Given the description of an element on the screen output the (x, y) to click on. 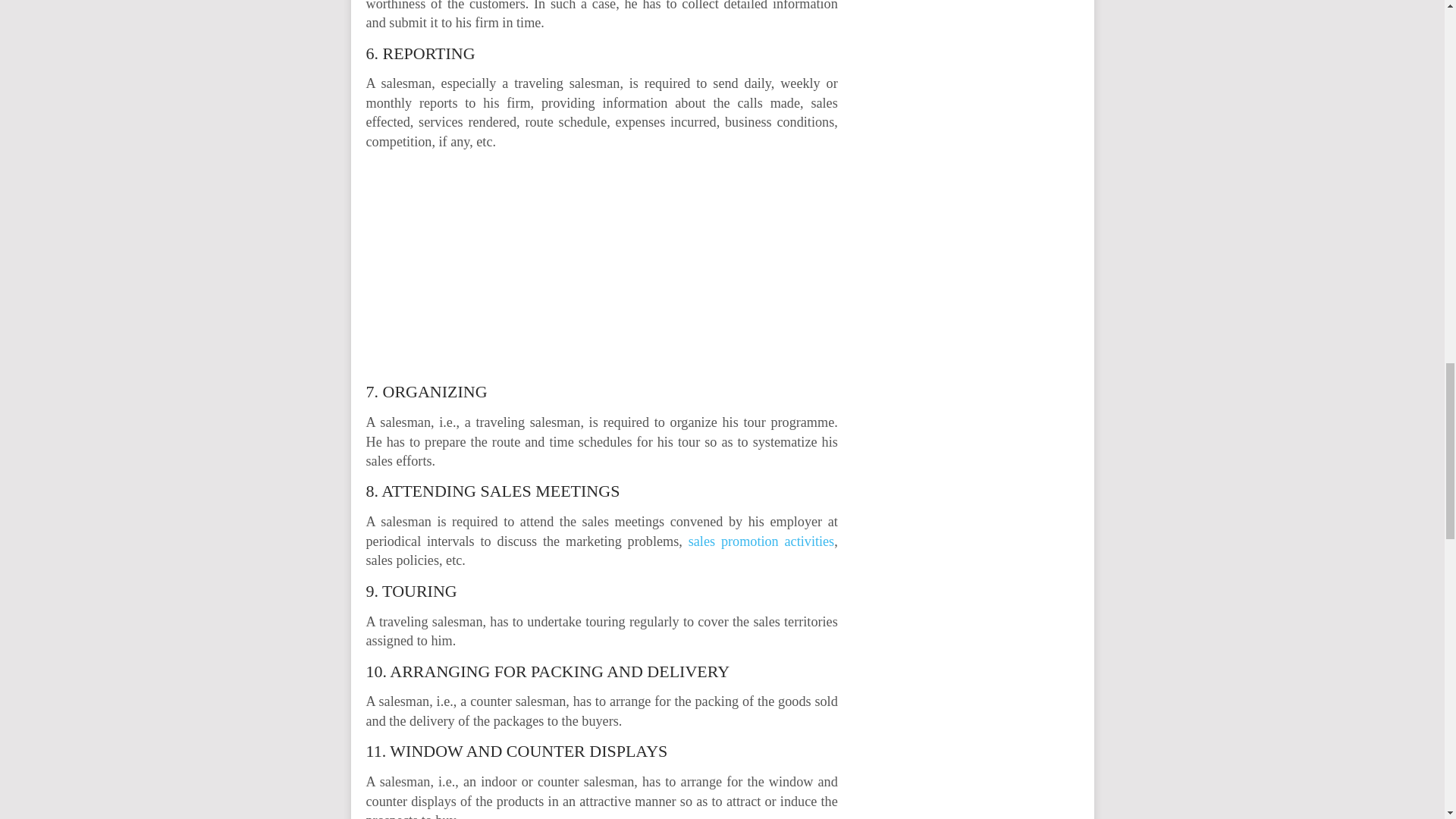
sales promotion activities (761, 540)
